Given the description of an element on the screen output the (x, y) to click on. 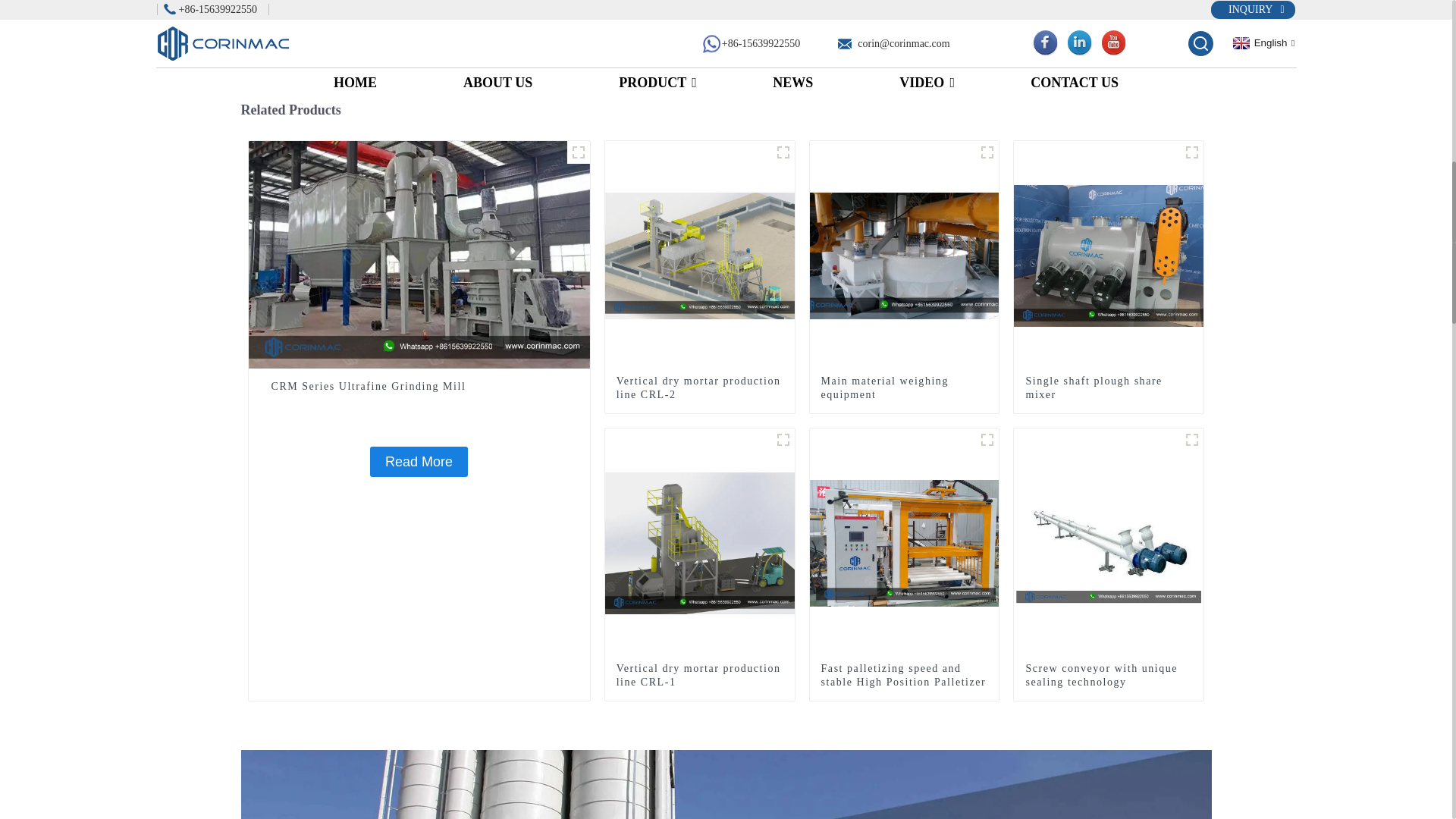
CRM Series Ultrafine Grinding Mill (418, 254)
Single shaft plough share mixer (1108, 254)
Vertical dry mortar production line CRL-2 (699, 254)
Vertical dry mortar production line CRL-1 (699, 675)
Vertical dry mortar production line CRL-1 (699, 541)
CRM Series Ultrafine Grinding Mill (418, 461)
CRM Series Ultrafine Grinding Mill (418, 386)
CRM Series Ultrafine Grinding Mill4 (578, 151)
Single shaft plough share mixer (1108, 388)
Main material weighing equipment (903, 254)
